Given the description of an element on the screen output the (x, y) to click on. 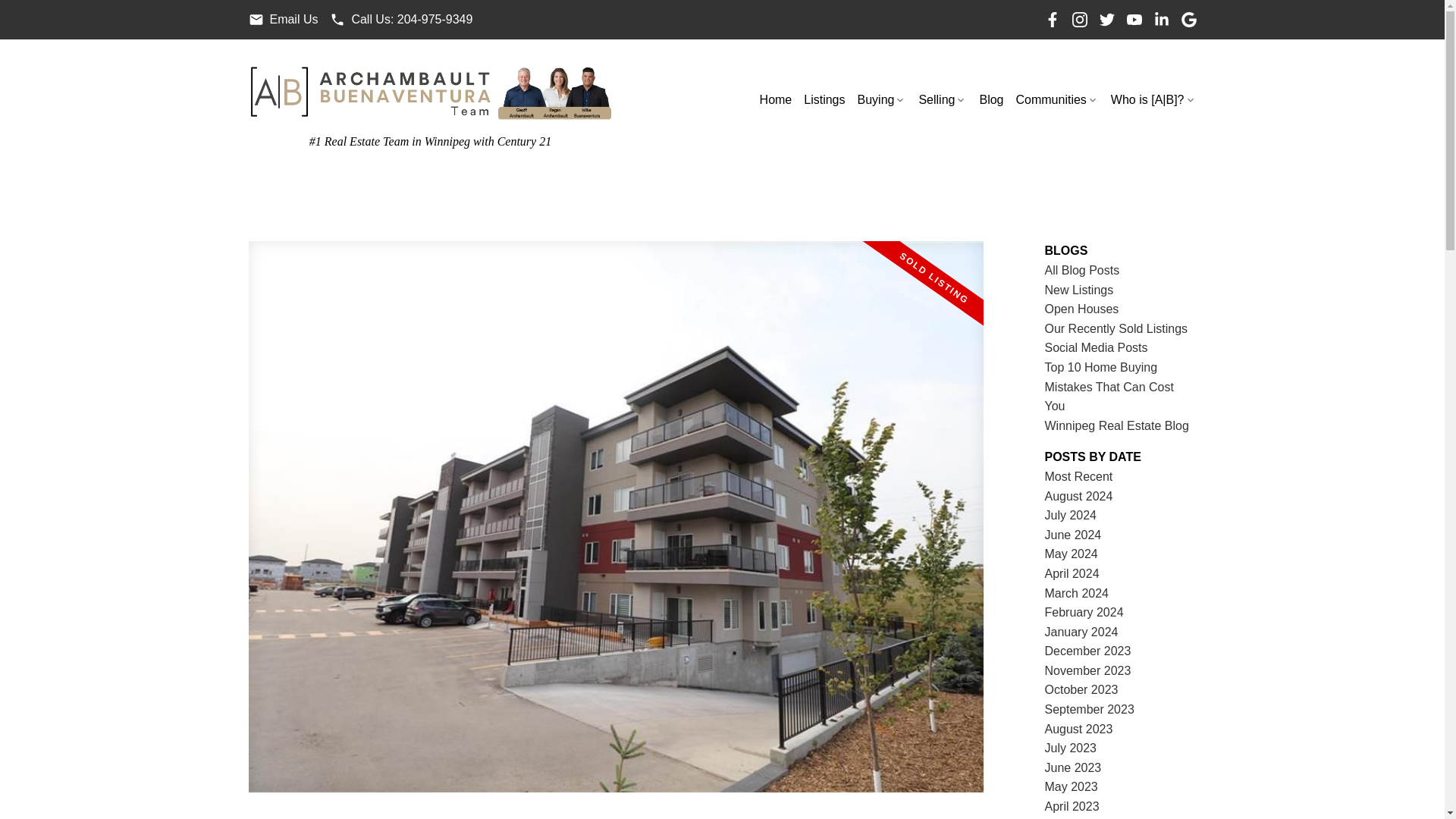
Winnipeg Real Estate Blog (1117, 425)
Top 10 Home Buying Mistakes That Can Cost You (1109, 386)
August 2024 (1079, 495)
All Blog Posts (1082, 269)
Social Media Posts (1096, 347)
Open Houses (1082, 308)
Email Us (283, 19)
Call Us: 204-975-9349 (400, 19)
Blog (990, 99)
Most Recent (1079, 476)
